Given the description of an element on the screen output the (x, y) to click on. 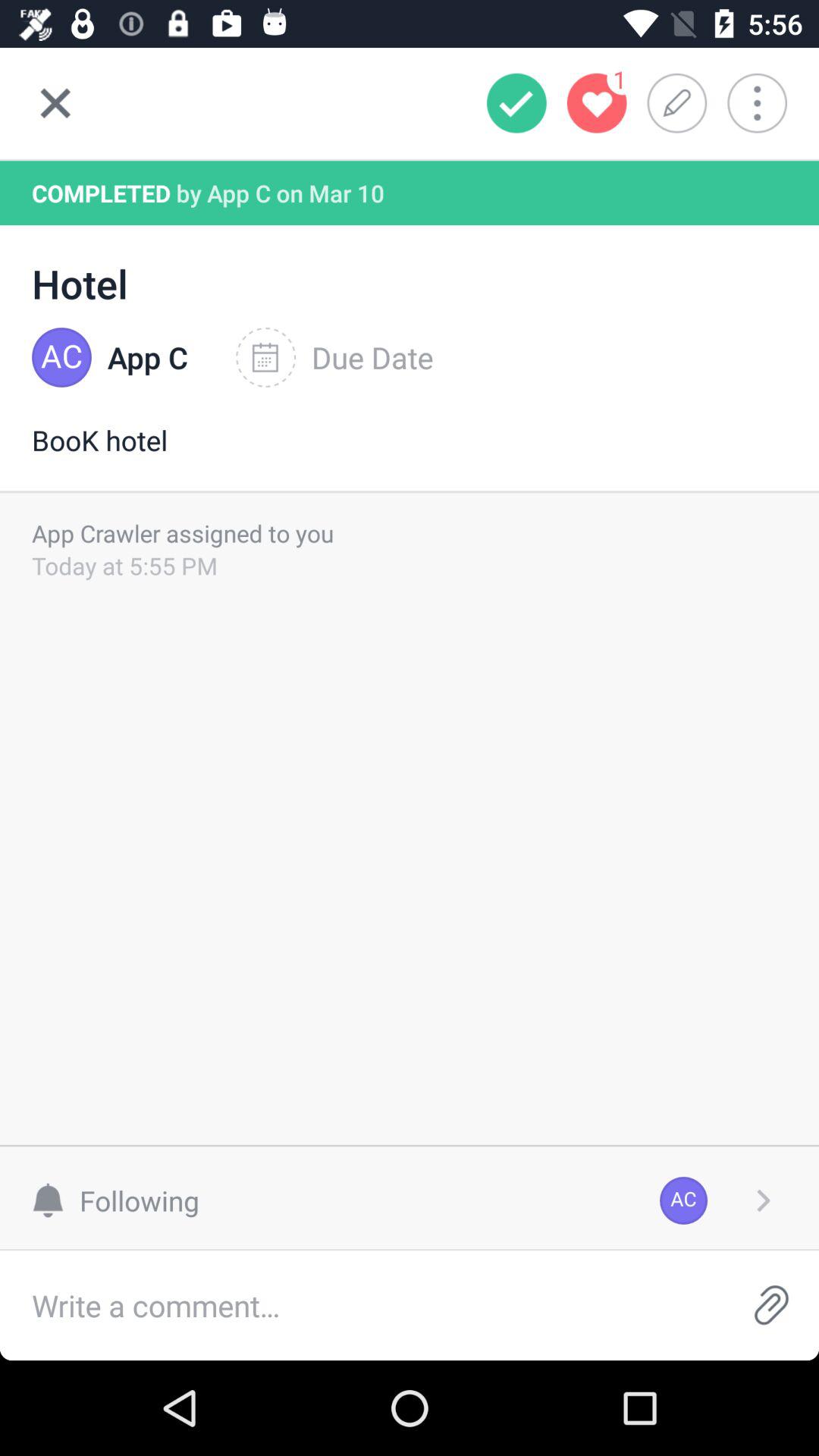
more options (768, 103)
